Given the description of an element on the screen output the (x, y) to click on. 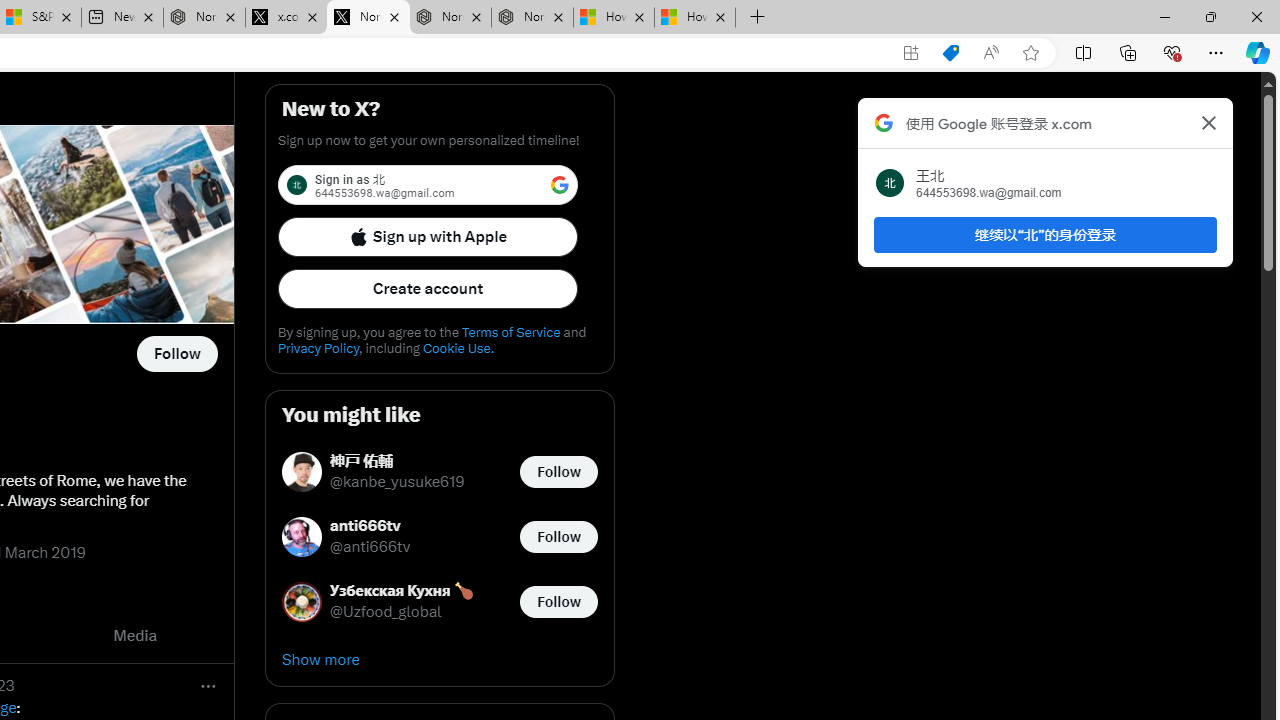
Class: Bz112c Bz112c-r9oPif (1208, 122)
anti666tv @anti666tv Follow @anti666tv (440, 536)
@Uzfood_global (386, 611)
Class: LgbsSe-Bz112c (559, 184)
Media (135, 636)
Privacy Policy (317, 348)
Nordace (@NordaceOfficial) / X (230, 17)
Next (212, 636)
